Given the description of an element on the screen output the (x, y) to click on. 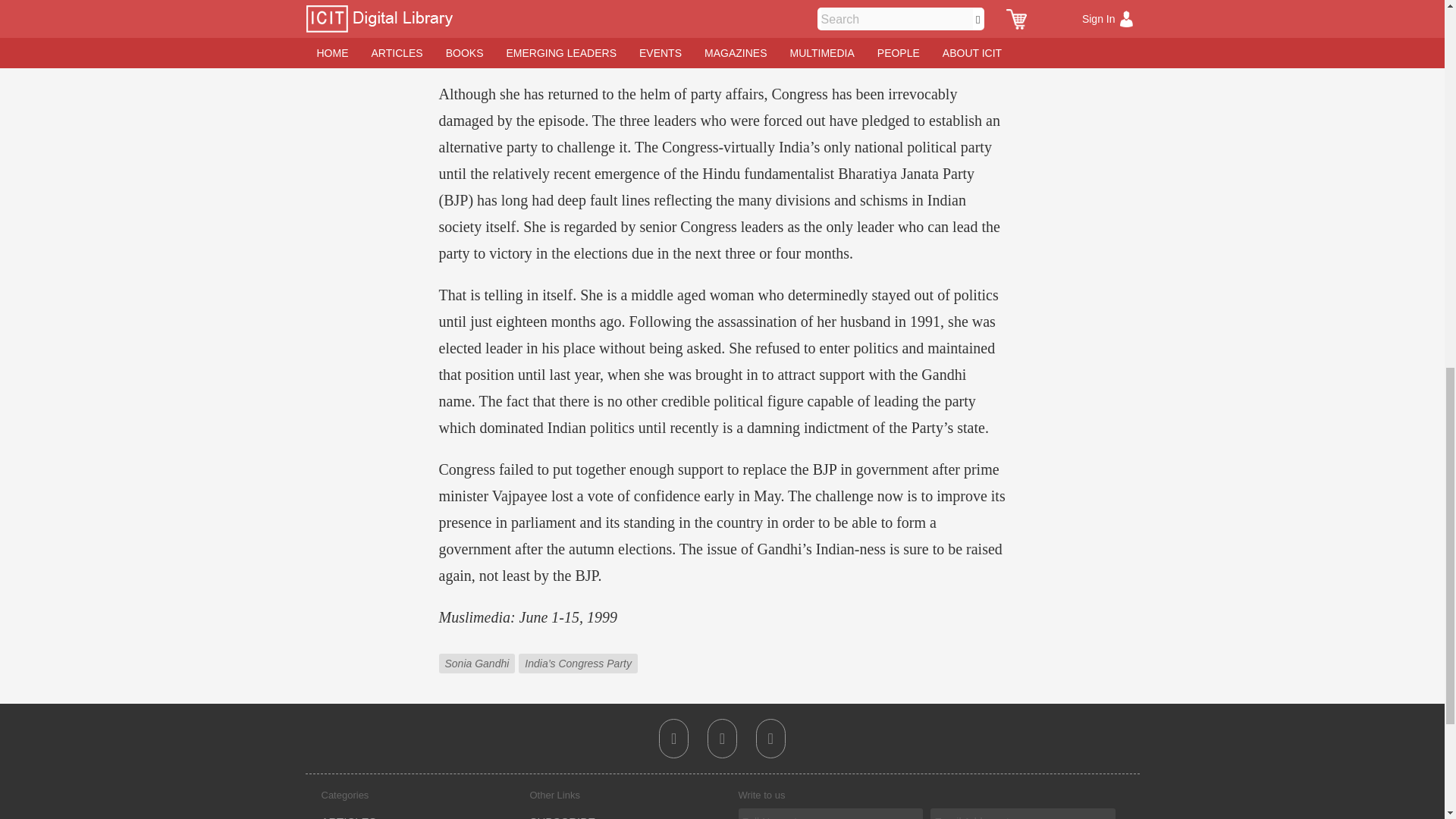
SUBSCRIBE (562, 816)
ARTICLES (349, 816)
Sonia Gandhi (478, 652)
